Given the description of an element on the screen output the (x, y) to click on. 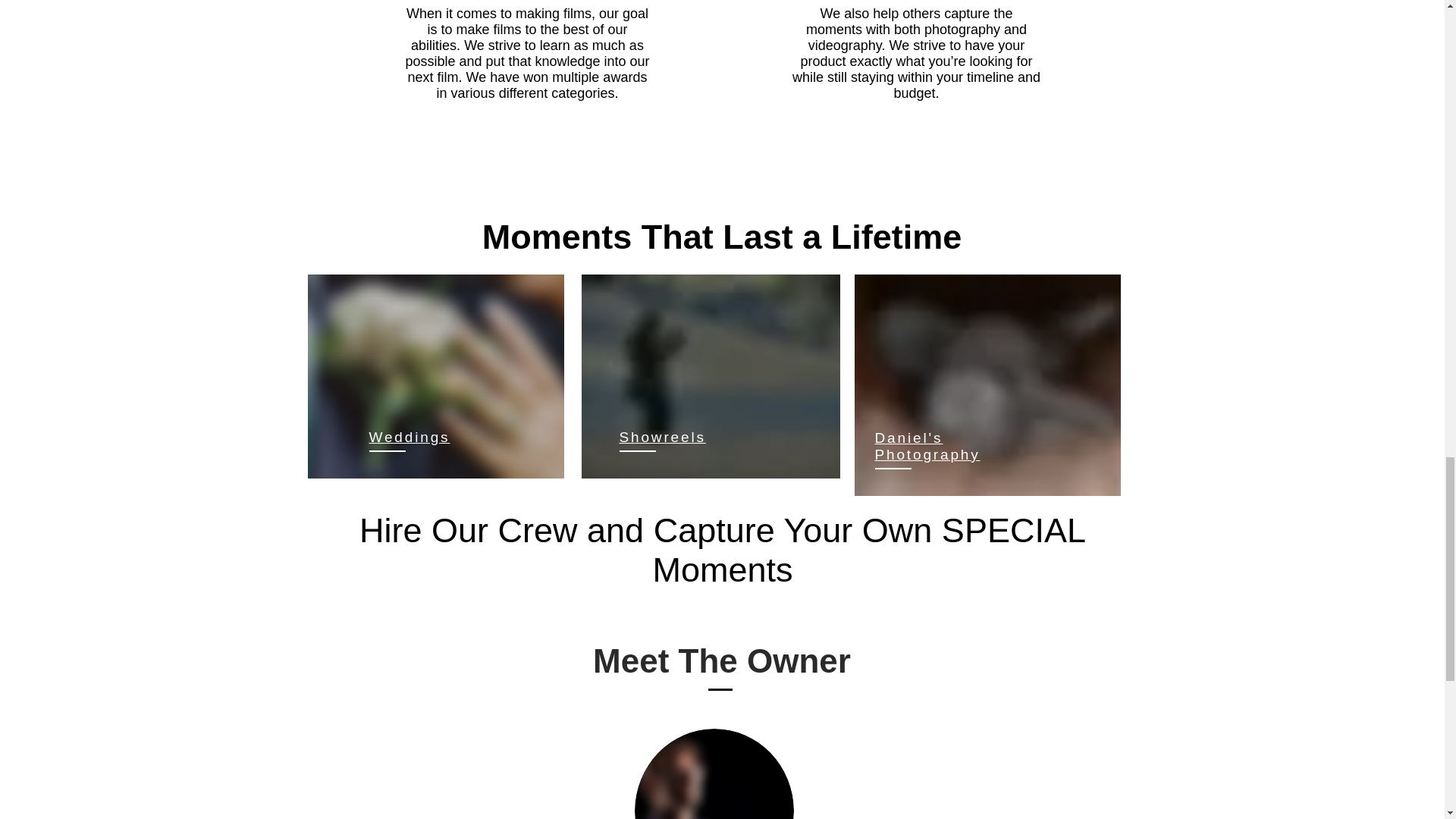
guy3.jpg (713, 773)
Daniel's Photography (927, 445)
Weddings (408, 437)
Showreels (661, 437)
